Given the description of an element on the screen output the (x, y) to click on. 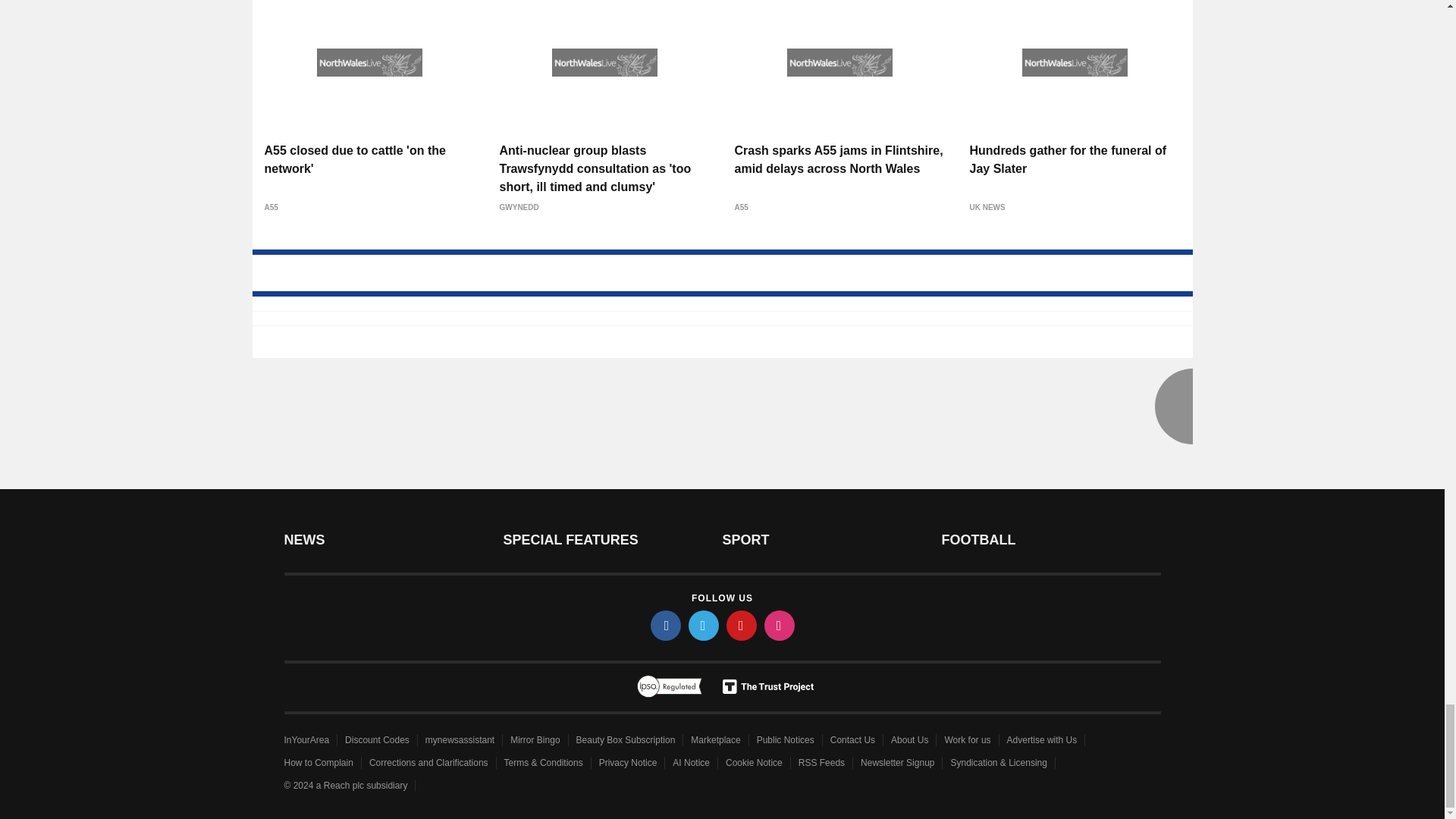
facebook (665, 625)
instagram (779, 625)
twitter (703, 625)
pinterest (741, 625)
